Given the description of an element on the screen output the (x, y) to click on. 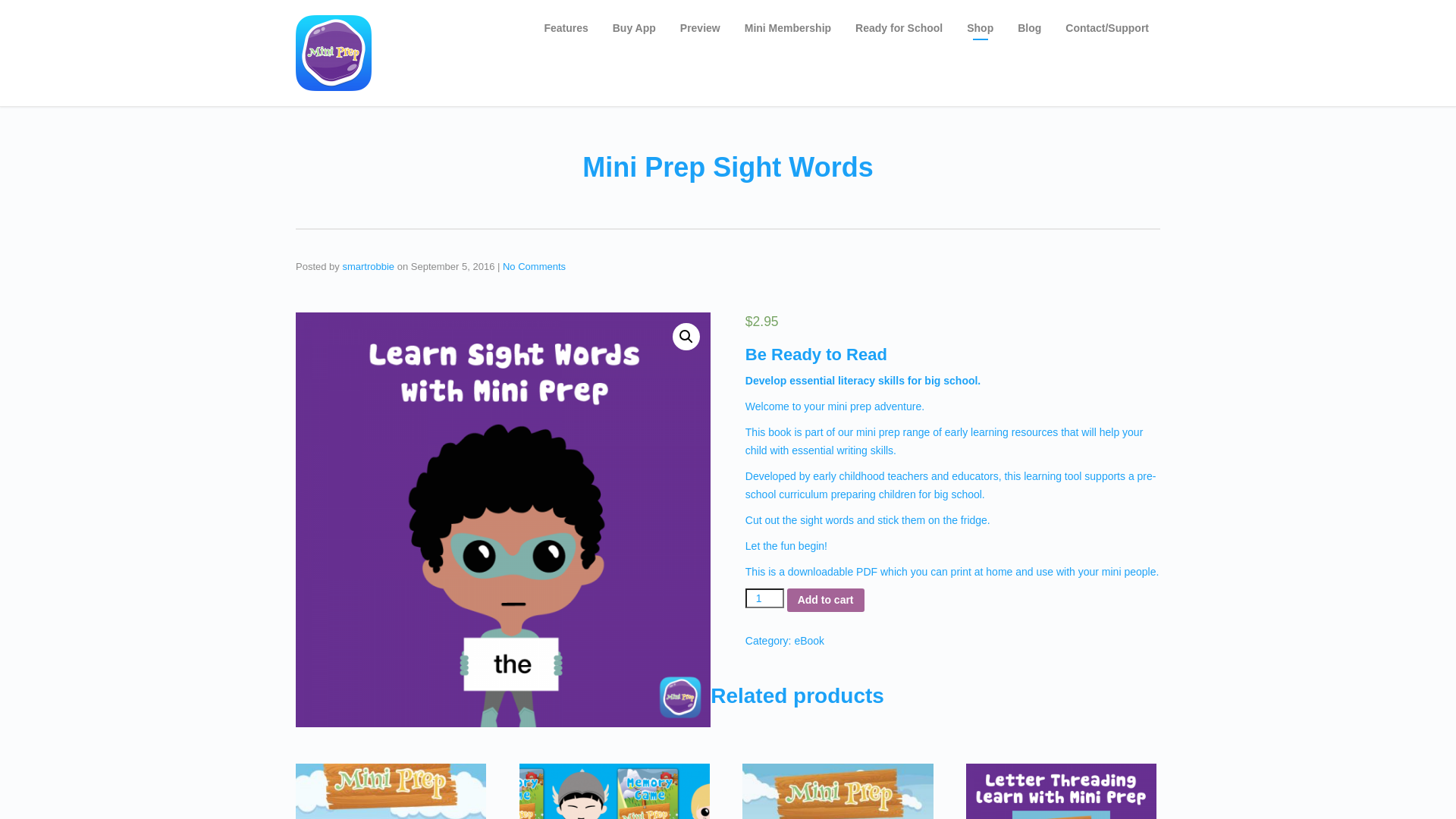
Ready for School Element type: text (898, 28)
Shop Element type: text (979, 28)
eBook Element type: text (808, 640)
Features Element type: text (565, 28)
smartrobbie Element type: text (368, 266)
Buy App Element type: text (634, 28)
Blog Element type: text (1029, 28)
learn-sight-words Element type: hover (502, 519)
Qty Element type: hover (764, 598)
Contact/Support Element type: text (1107, 28)
Preview Element type: text (699, 28)
No Comments Element type: text (533, 266)
Mini Membership Element type: text (787, 28)
Add to cart Element type: text (825, 599)
